Given the description of an element on the screen output the (x, y) to click on. 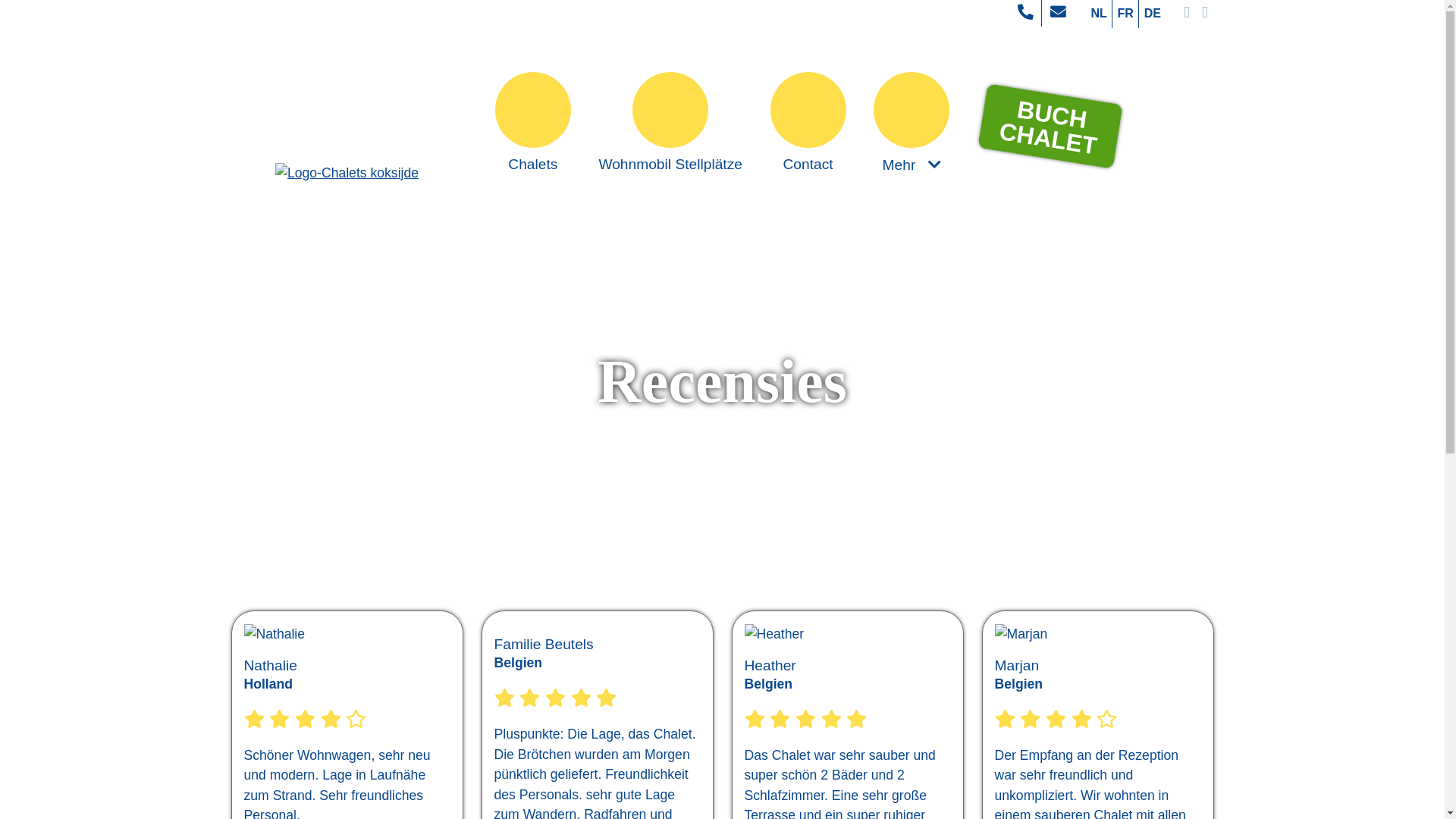
Mehr Element type: text (911, 122)
BUCH
CHALET Element type: text (1045, 115)
FR Element type: text (1125, 14)
NL Element type: text (1098, 14)
DE Element type: text (1152, 14)
Chalets Element type: text (533, 122)
Contact Element type: text (808, 122)
